Given the description of an element on the screen output the (x, y) to click on. 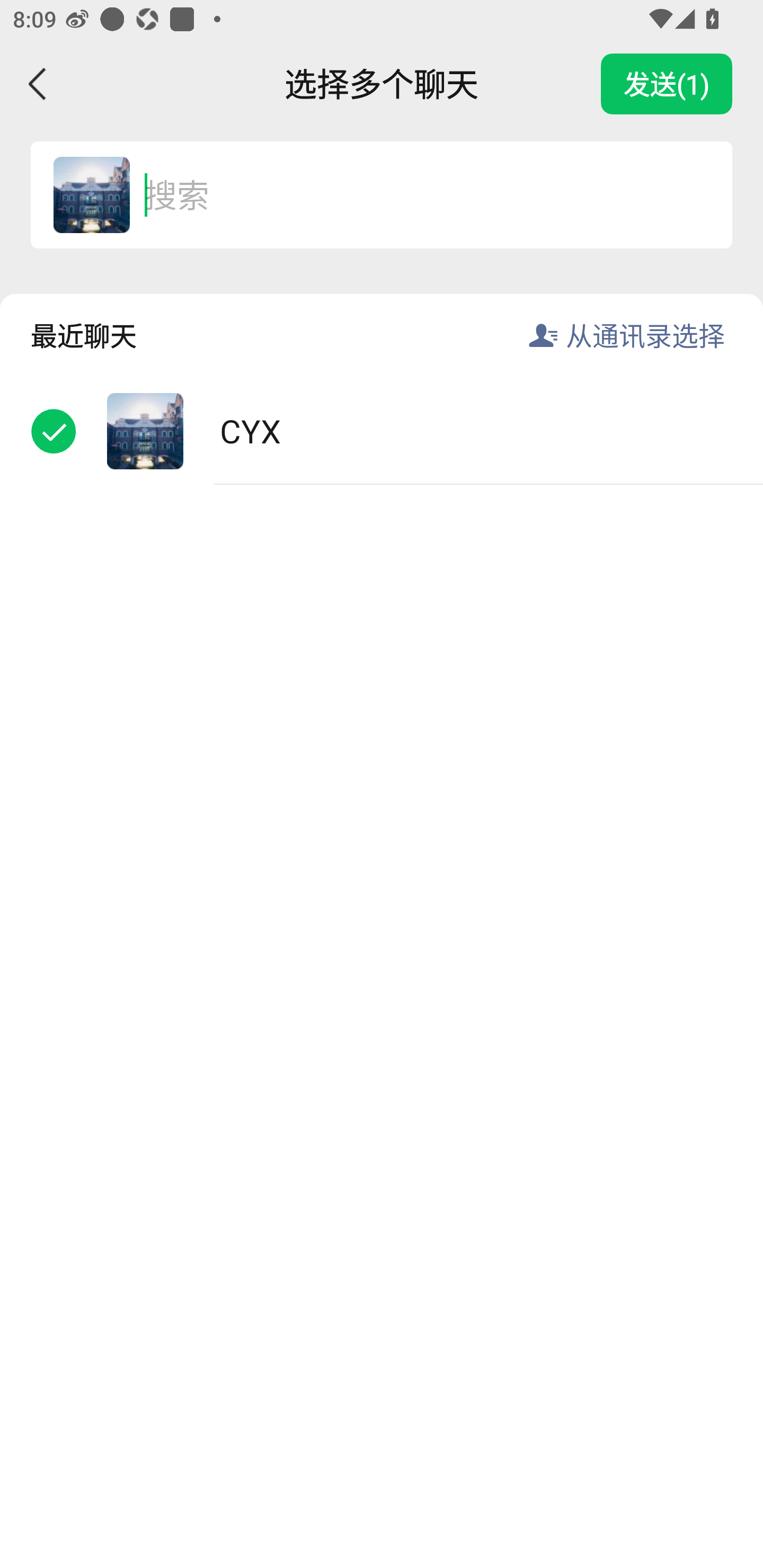
返回 (38, 83)
发送(1) (666, 83)
CYX (91, 194)
搜索 (418, 194)
最近聊天 从通讯录选择 (381, 320)
从通讯录选择 (645, 335)
CYX (381, 430)
